Given the description of an element on the screen output the (x, y) to click on. 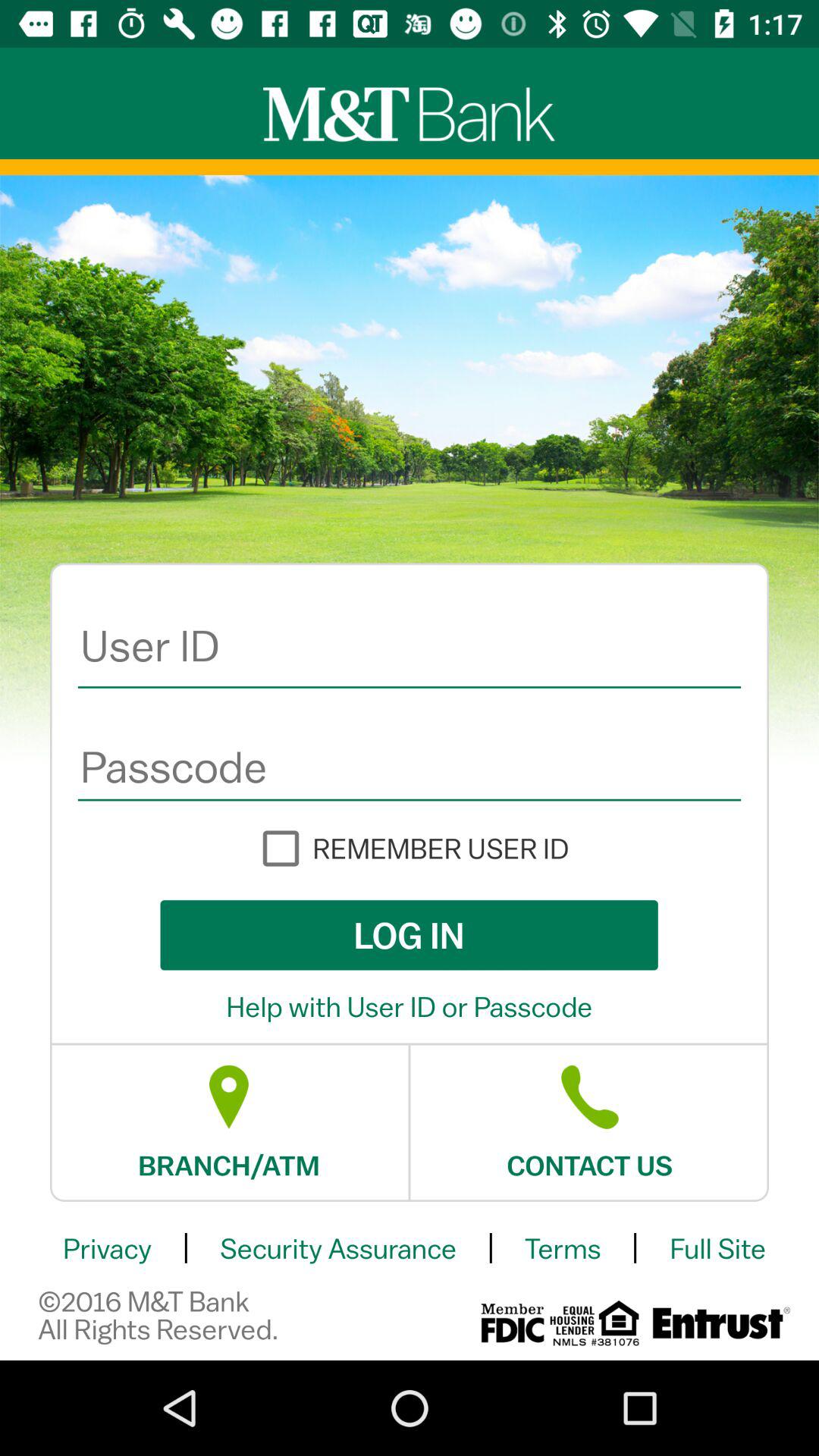
flip to help with user (409, 1006)
